Given the description of an element on the screen output the (x, y) to click on. 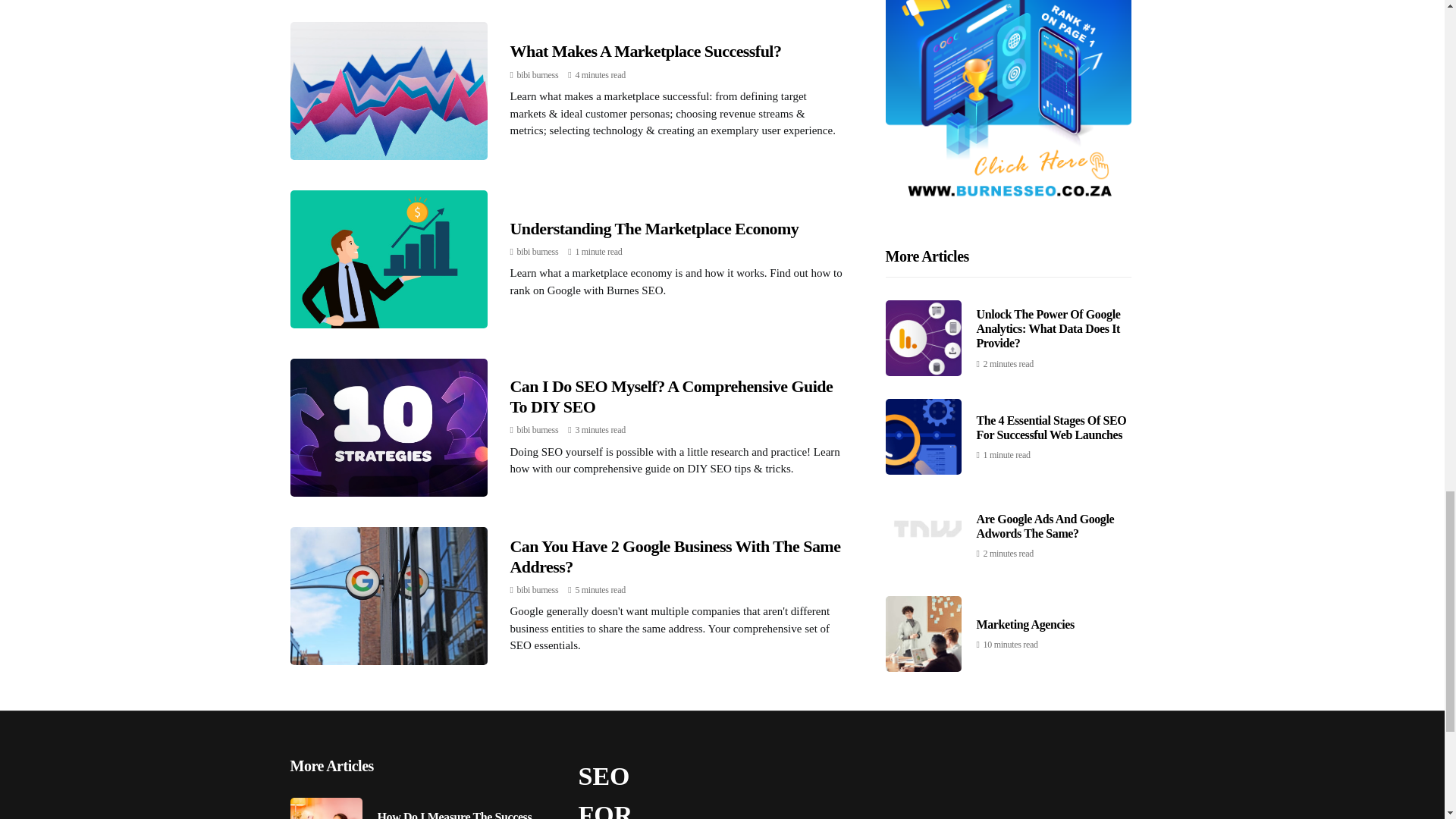
bibi burness (537, 589)
What Makes A Marketplace Successful? (644, 50)
Understanding The Marketplace Economy (653, 228)
bibi burness (537, 74)
Posts by bibi burness (537, 429)
Can You Have 2 Google Business With The Same Address? (674, 556)
bibi burness (537, 251)
bibi burness (537, 429)
Posts by bibi burness (537, 74)
Posts by bibi burness (537, 589)
